Given the description of an element on the screen output the (x, y) to click on. 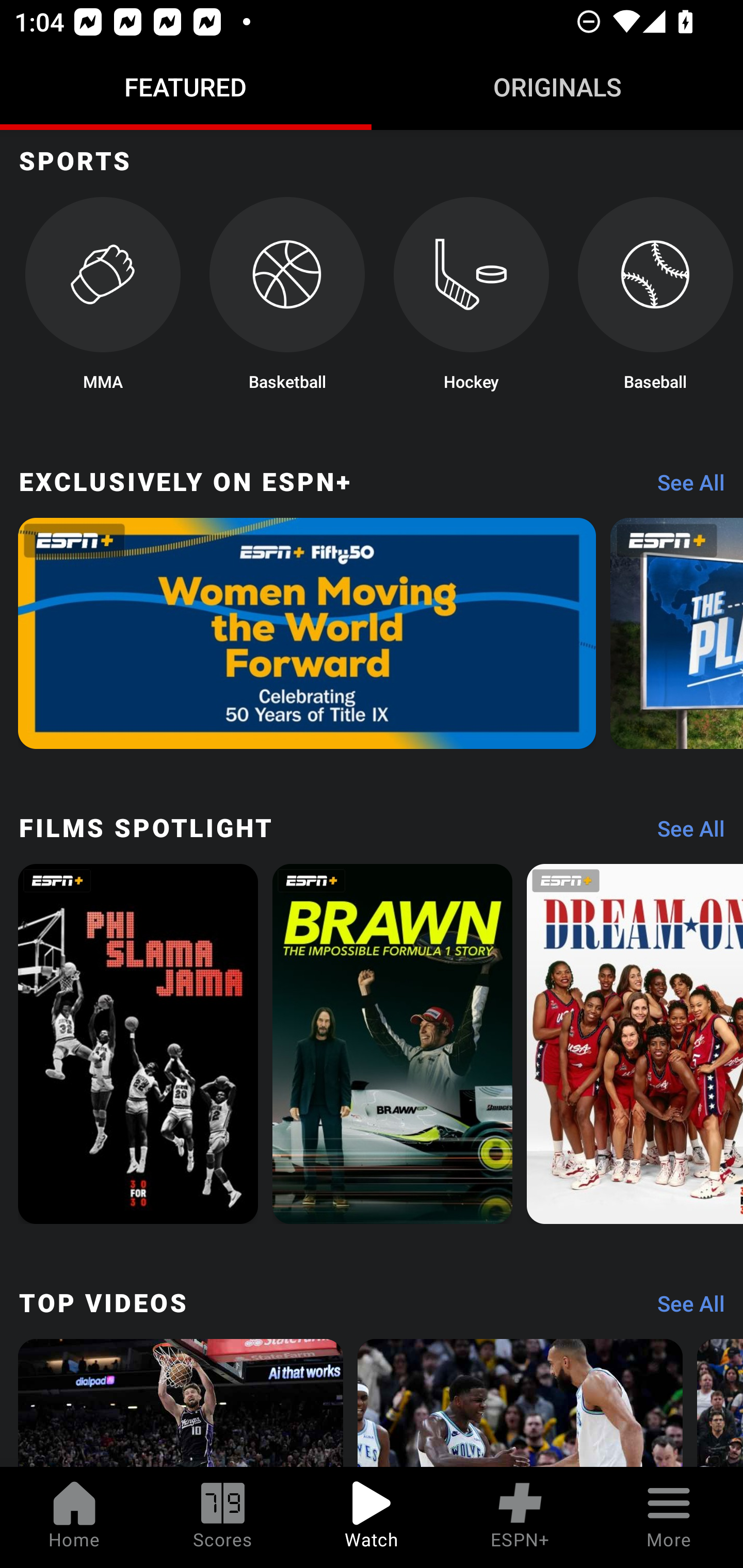
Originals ORIGINALS (557, 86)
MMA (102, 299)
Basketball (286, 299)
Hockey (471, 299)
Baseball (655, 299)
See All (683, 487)
See All (683, 833)
See All (683, 1308)
Home (74, 1517)
Scores (222, 1517)
ESPN+ (519, 1517)
More (668, 1517)
